Given the description of an element on the screen output the (x, y) to click on. 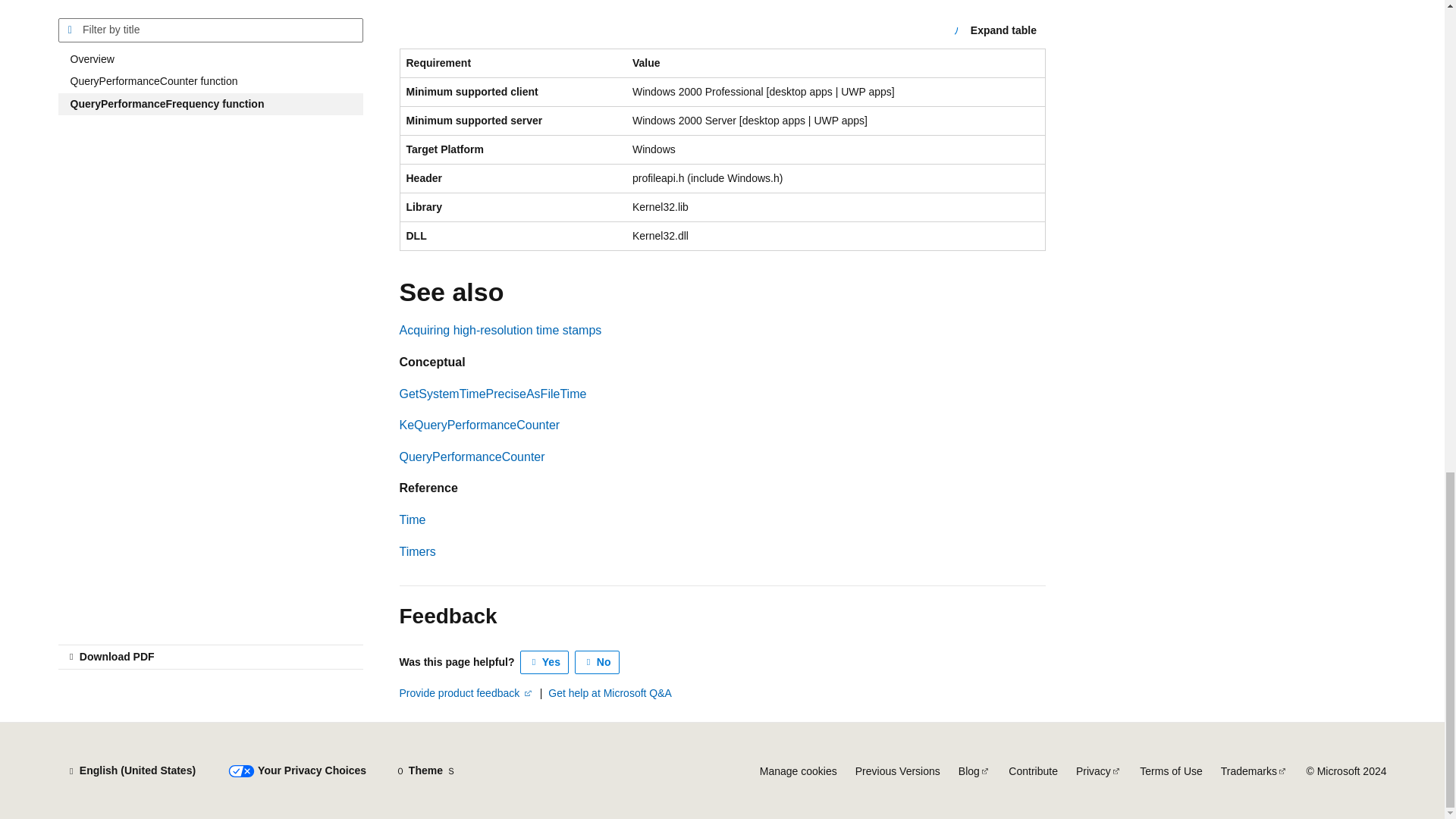
Theme (425, 770)
This article is helpful (544, 662)
This article is not helpful (597, 662)
